Given the description of an element on the screen output the (x, y) to click on. 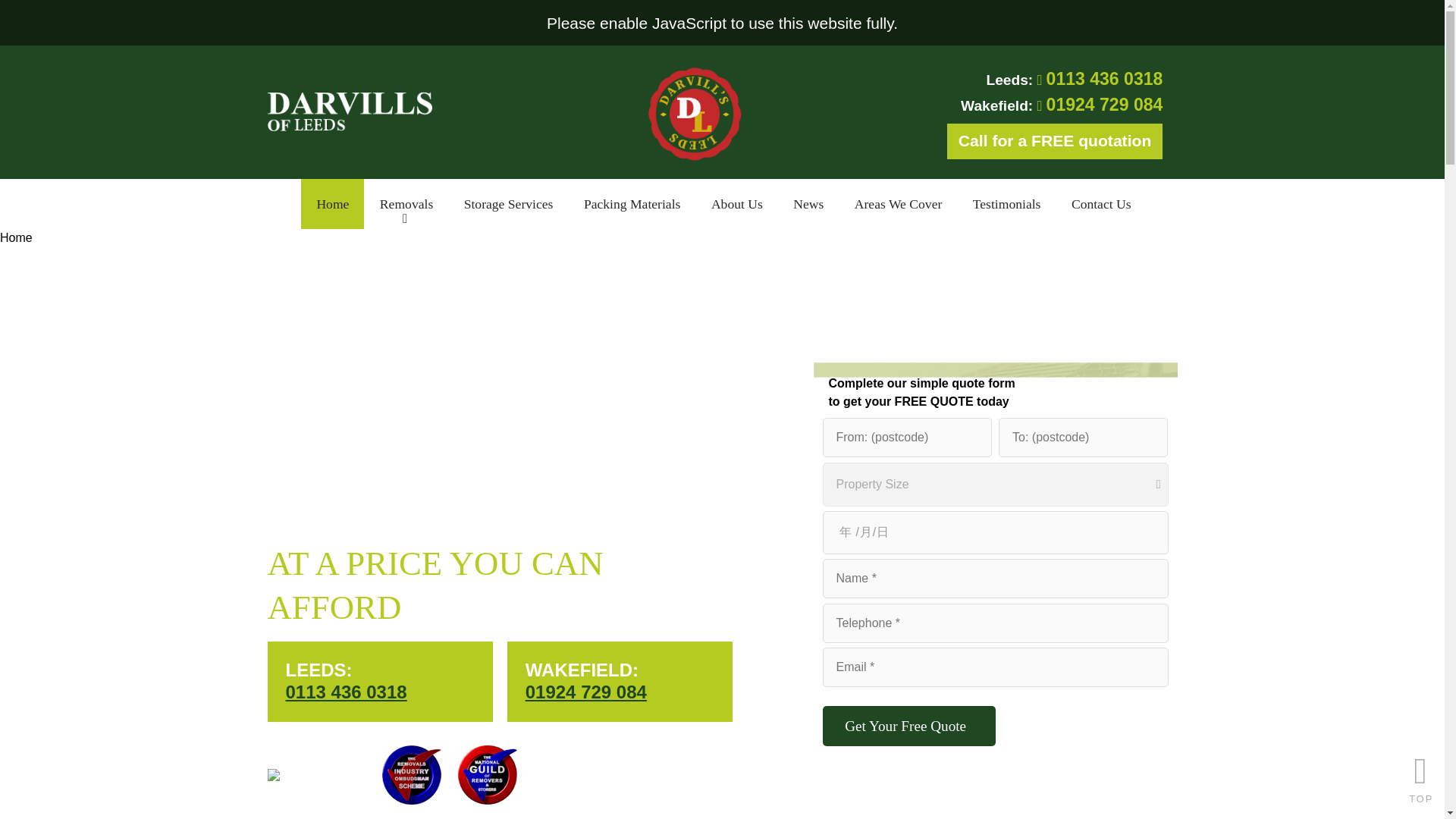
0113 436 0318 (1104, 78)
Call for a FREE quotation (1055, 140)
Get Your Free Quote   (908, 725)
Home (332, 204)
01924 729 084 (1104, 104)
Removals (406, 204)
